Given the description of an element on the screen output the (x, y) to click on. 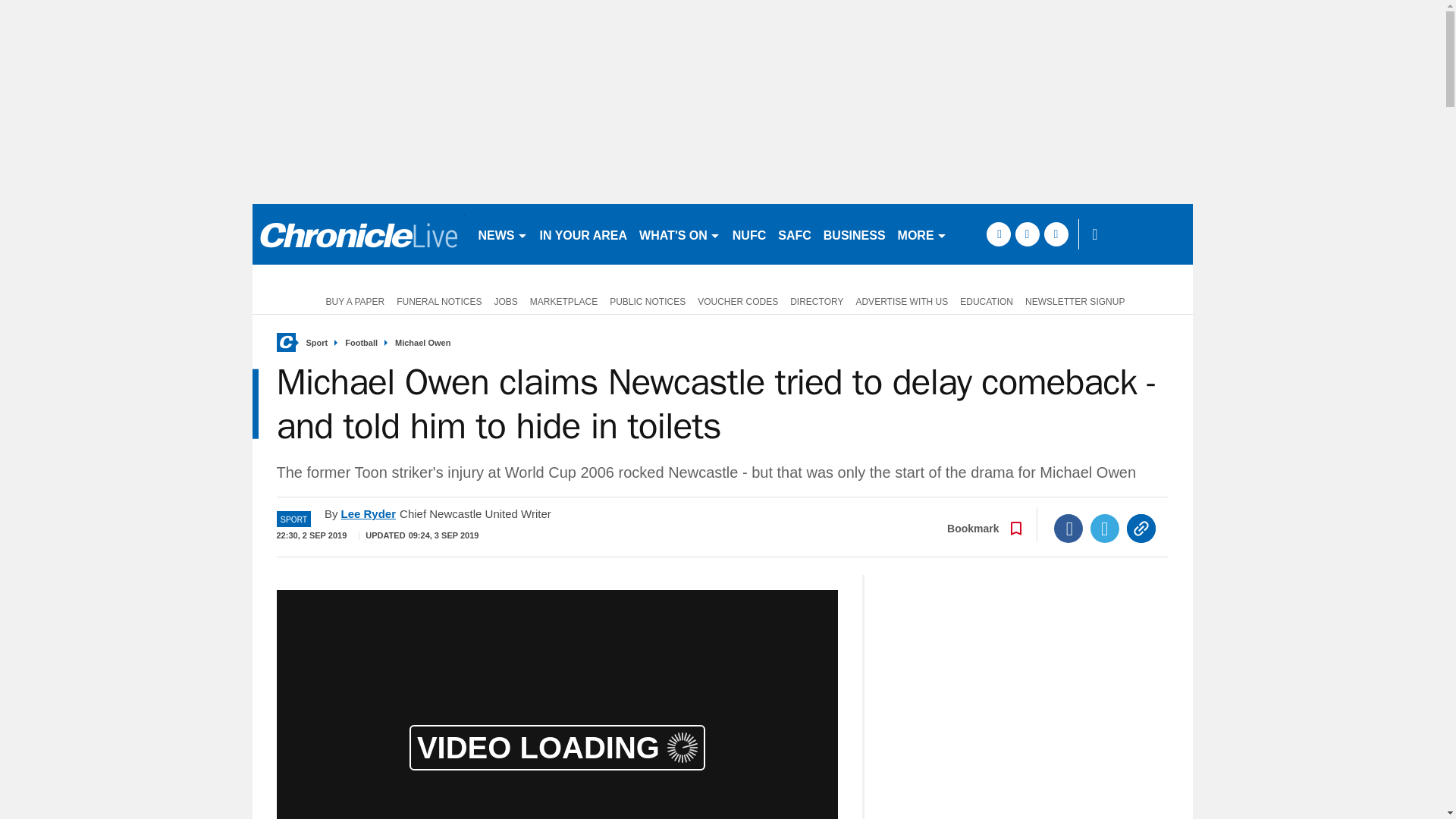
MORE (922, 233)
WHAT'S ON (679, 233)
BUSINESS (853, 233)
Twitter (1104, 528)
NUFC (748, 233)
facebook (997, 233)
instagram (1055, 233)
SAFC (793, 233)
Facebook (1068, 528)
twitter (1026, 233)
IN YOUR AREA (583, 233)
NEWS (501, 233)
nechronicle (357, 233)
